Given the description of an element on the screen output the (x, y) to click on. 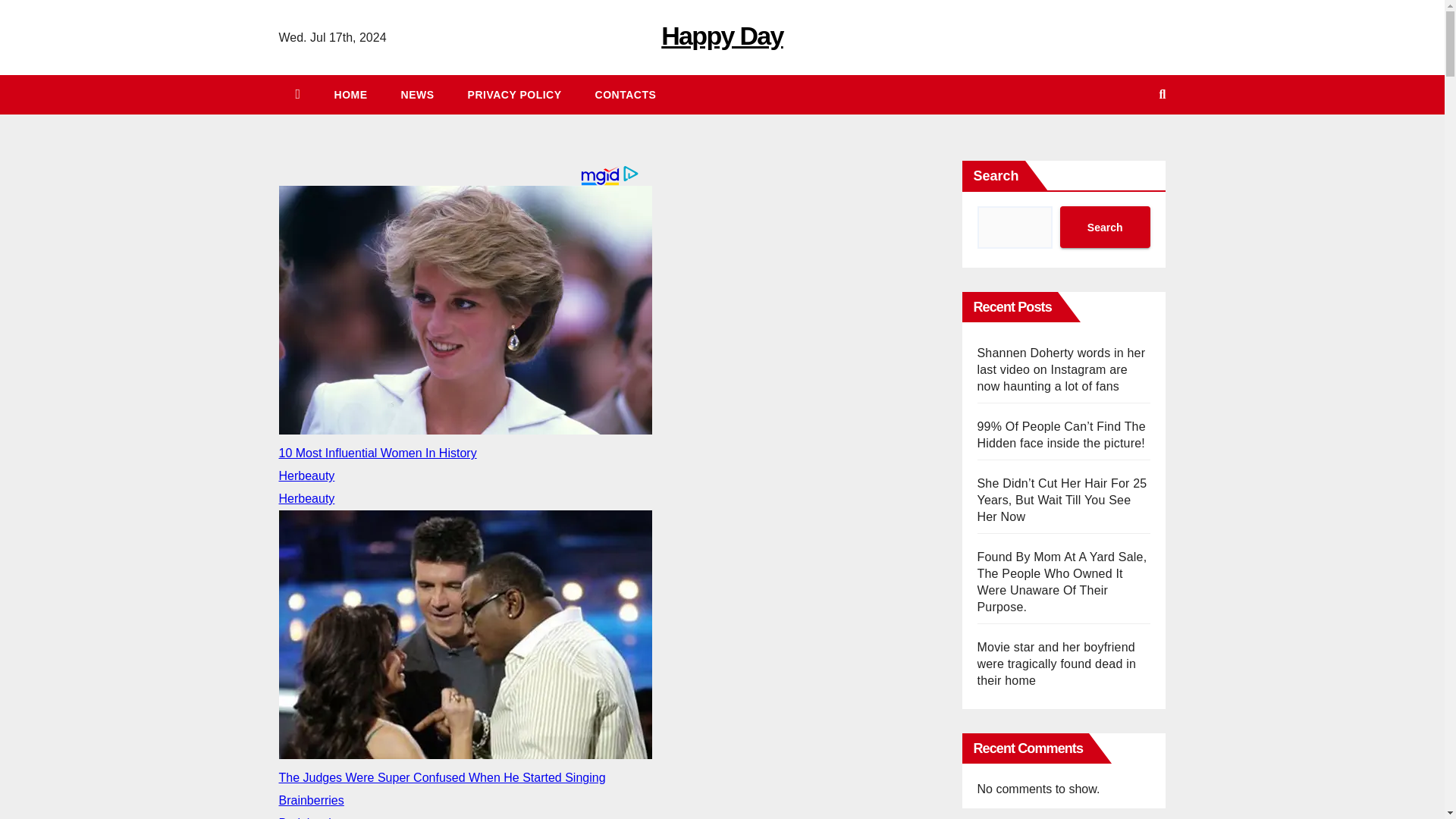
PRIVACY POLICY (514, 94)
Happy Day (722, 35)
Search (1104, 227)
Contacts (625, 94)
HOME (350, 94)
NEWS (417, 94)
CONTACTS (625, 94)
Home (350, 94)
Privacy Policy (514, 94)
News (417, 94)
